Given the description of an element on the screen output the (x, y) to click on. 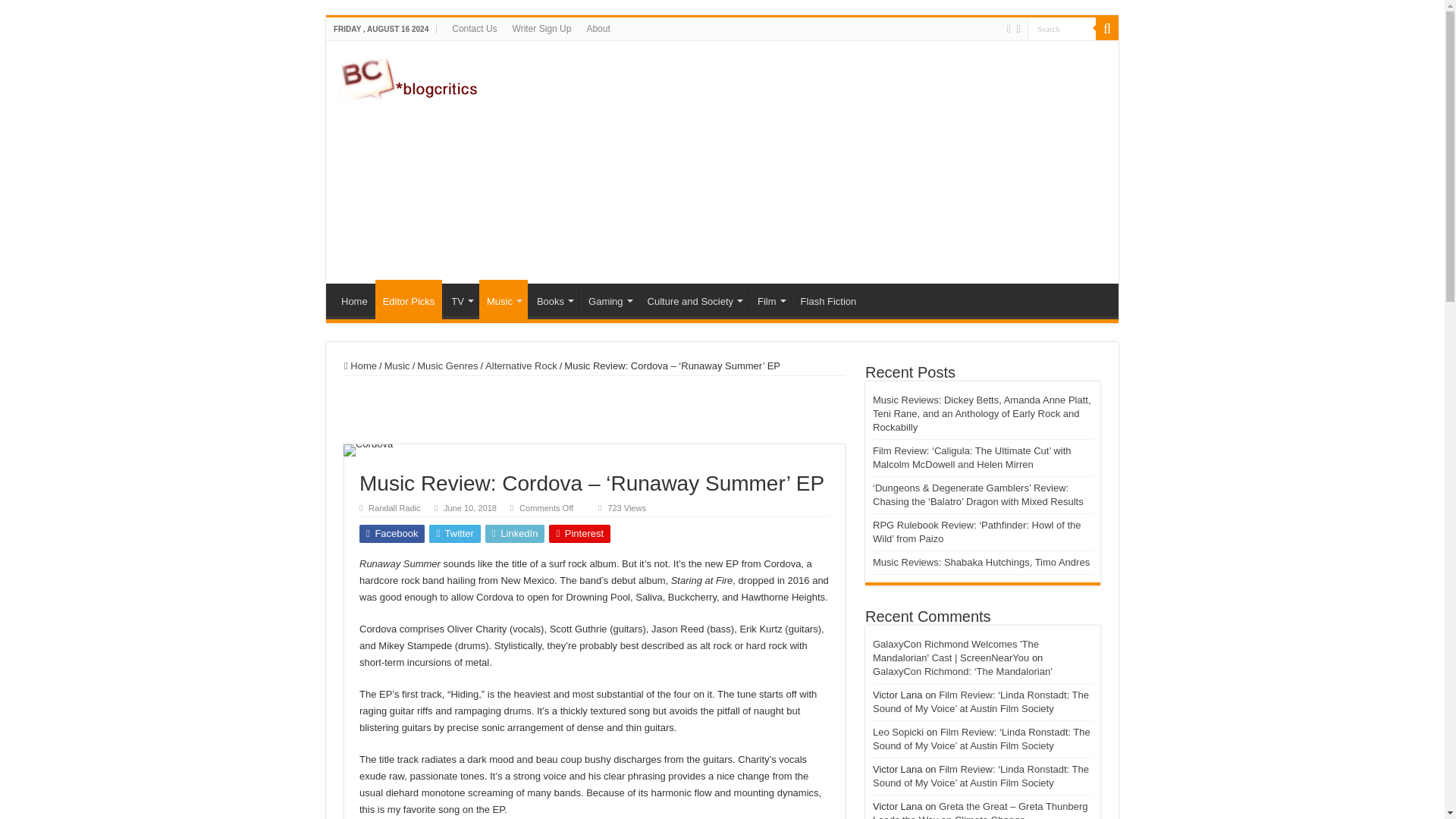
Advertisement (830, 162)
Search (1061, 28)
Search (1061, 28)
Search (1061, 28)
Blogcritics (409, 75)
